Given the description of an element on the screen output the (x, y) to click on. 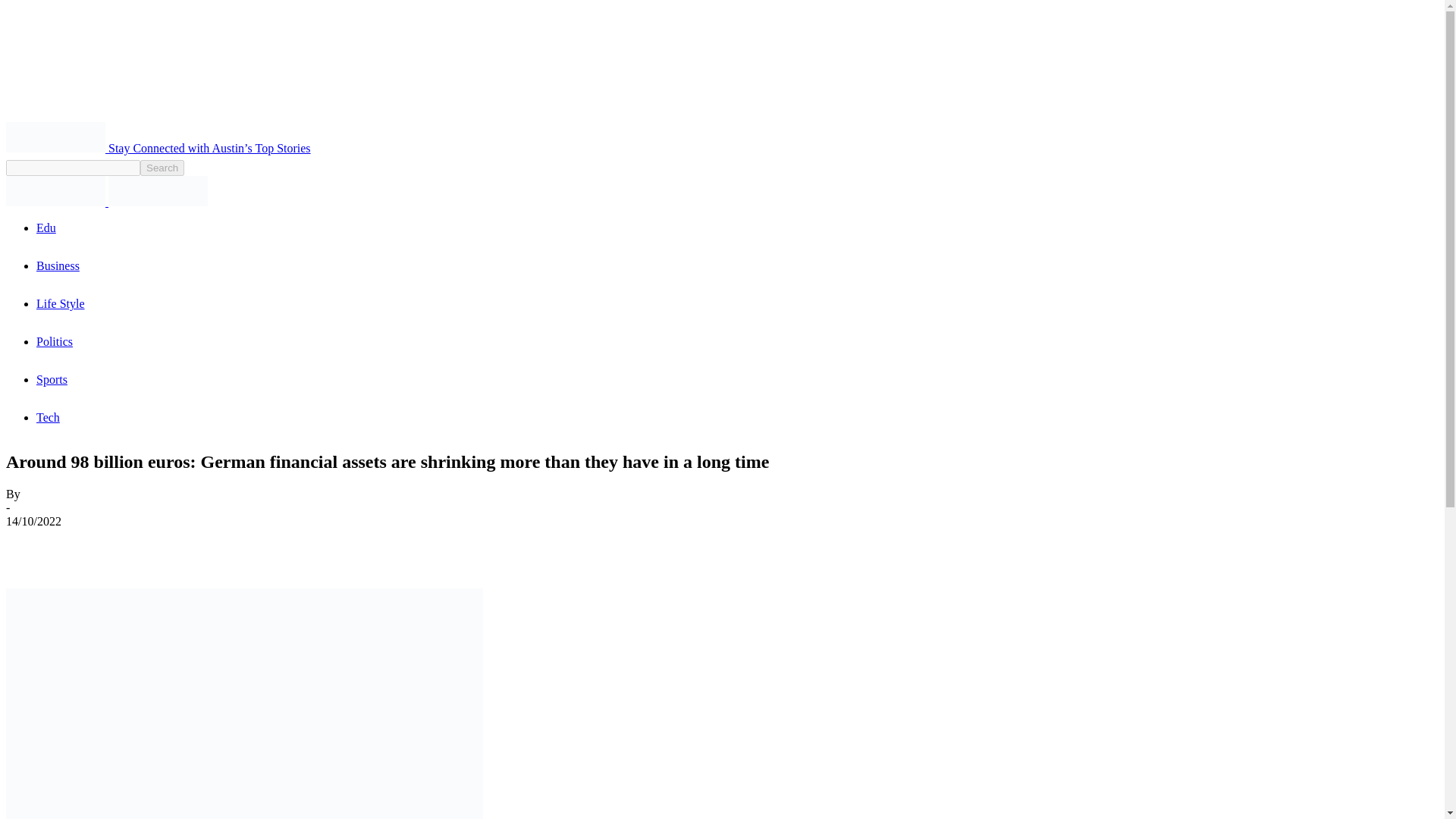
Business (58, 265)
Politics (54, 341)
Sports (51, 379)
resim-561 (244, 703)
Breaking News (157, 191)
Breaking News (54, 191)
Breaking News (54, 137)
Tech (47, 417)
Life Style (60, 303)
Edu (46, 227)
